Given the description of an element on the screen output the (x, y) to click on. 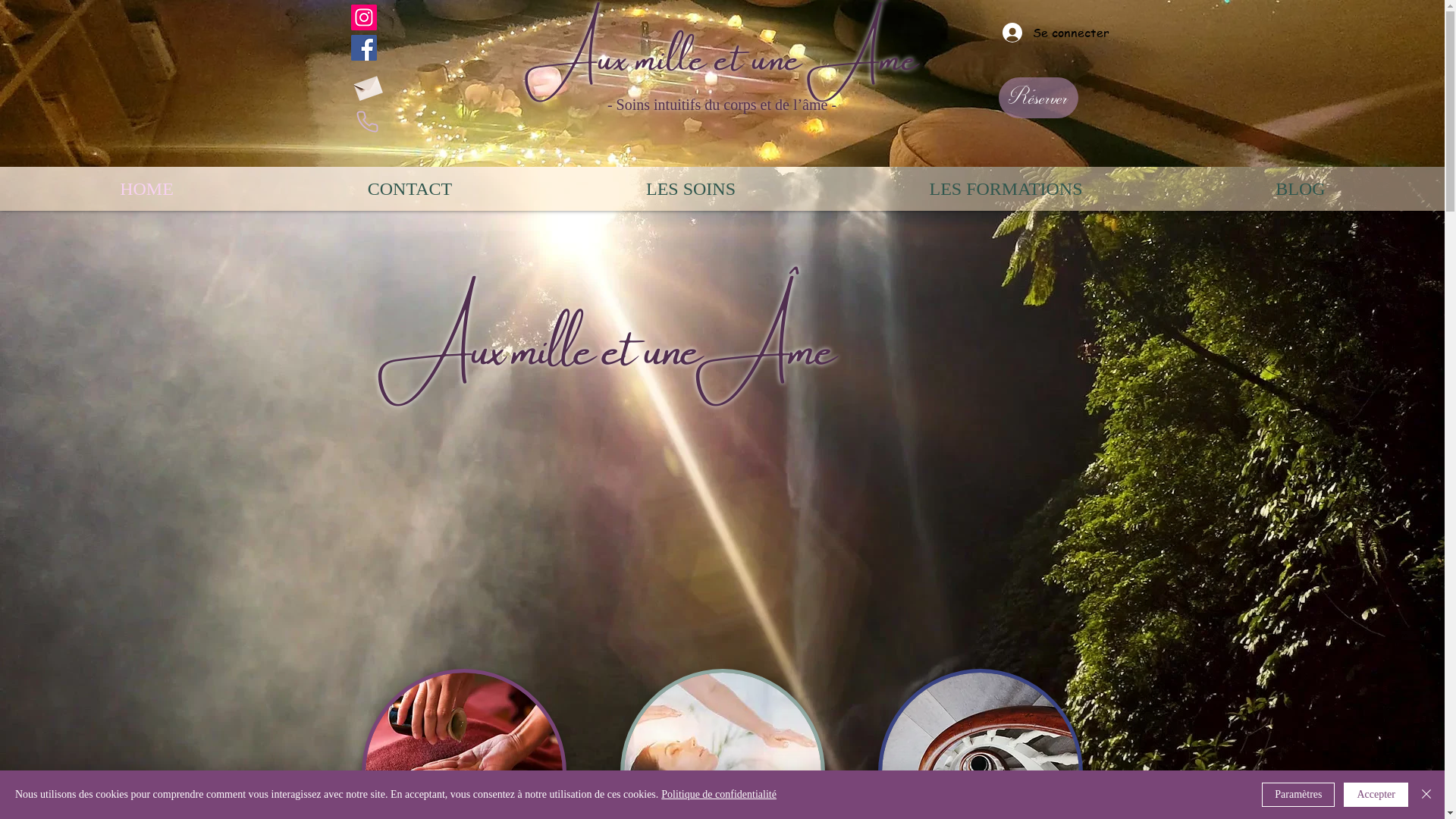
Envelope Element type: hover (366, 85)
LES FORMATIONS Element type: text (1005, 188)
HOME Element type: text (146, 188)
Accepter Element type: text (1375, 794)
CONTACT Element type: text (409, 188)
LES SOINS Element type: text (690, 188)
BLOG Element type: text (1300, 188)
Se connecter Element type: text (1036, 32)
